Given the description of an element on the screen output the (x, y) to click on. 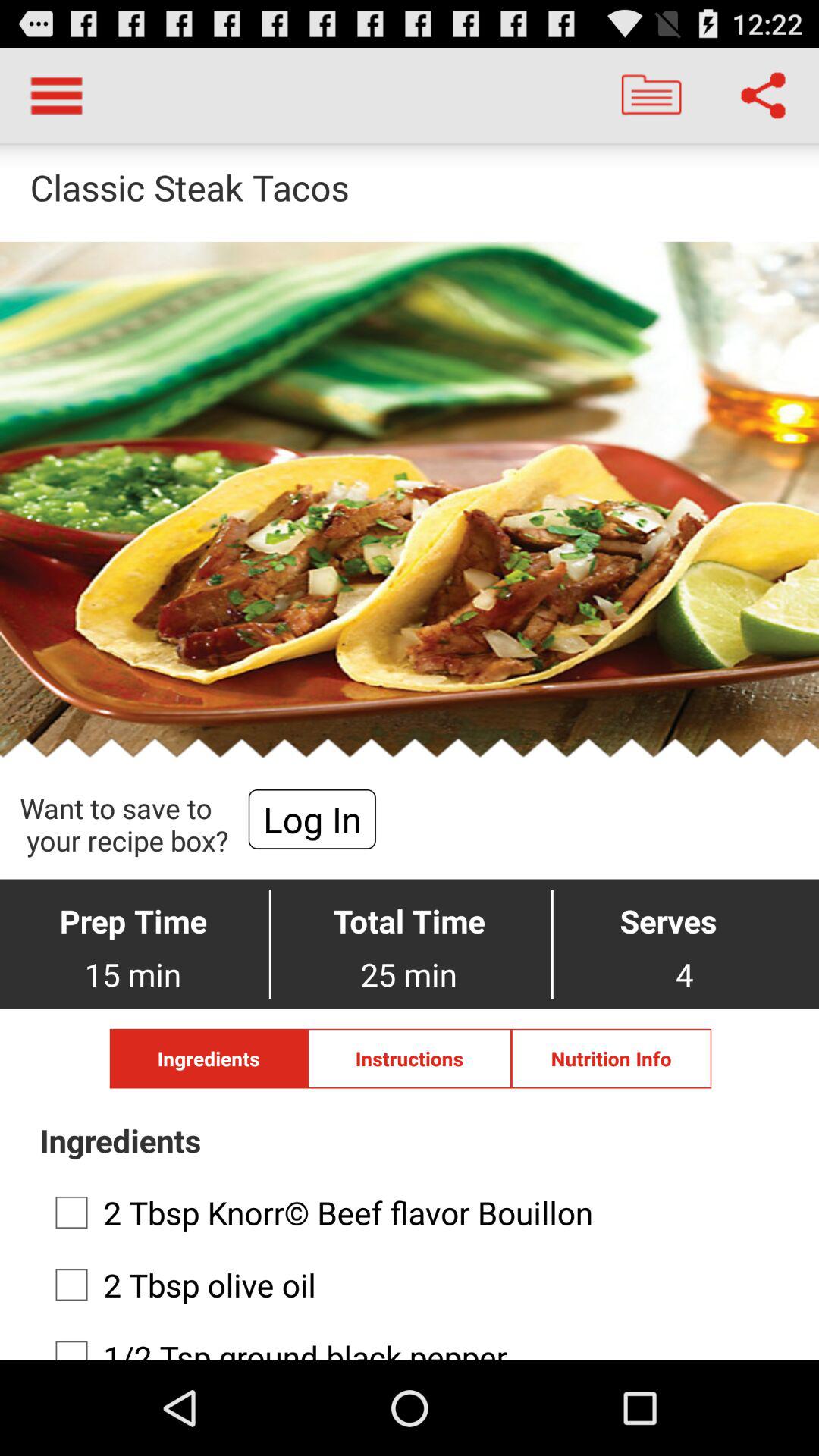
click the icon above the 2 tbsp knorr item (611, 1058)
